Given the description of an element on the screen output the (x, y) to click on. 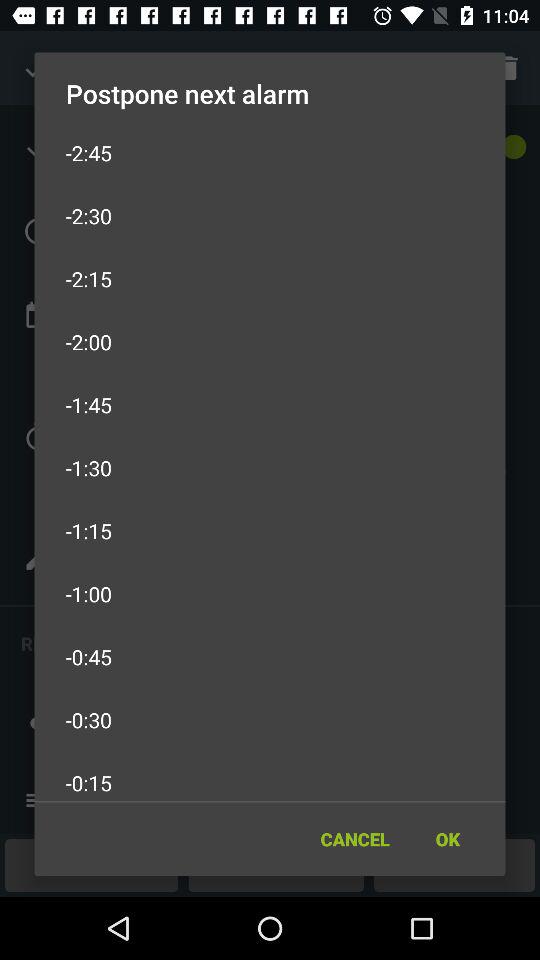
flip to ok item (447, 838)
